Given the description of an element on the screen output the (x, y) to click on. 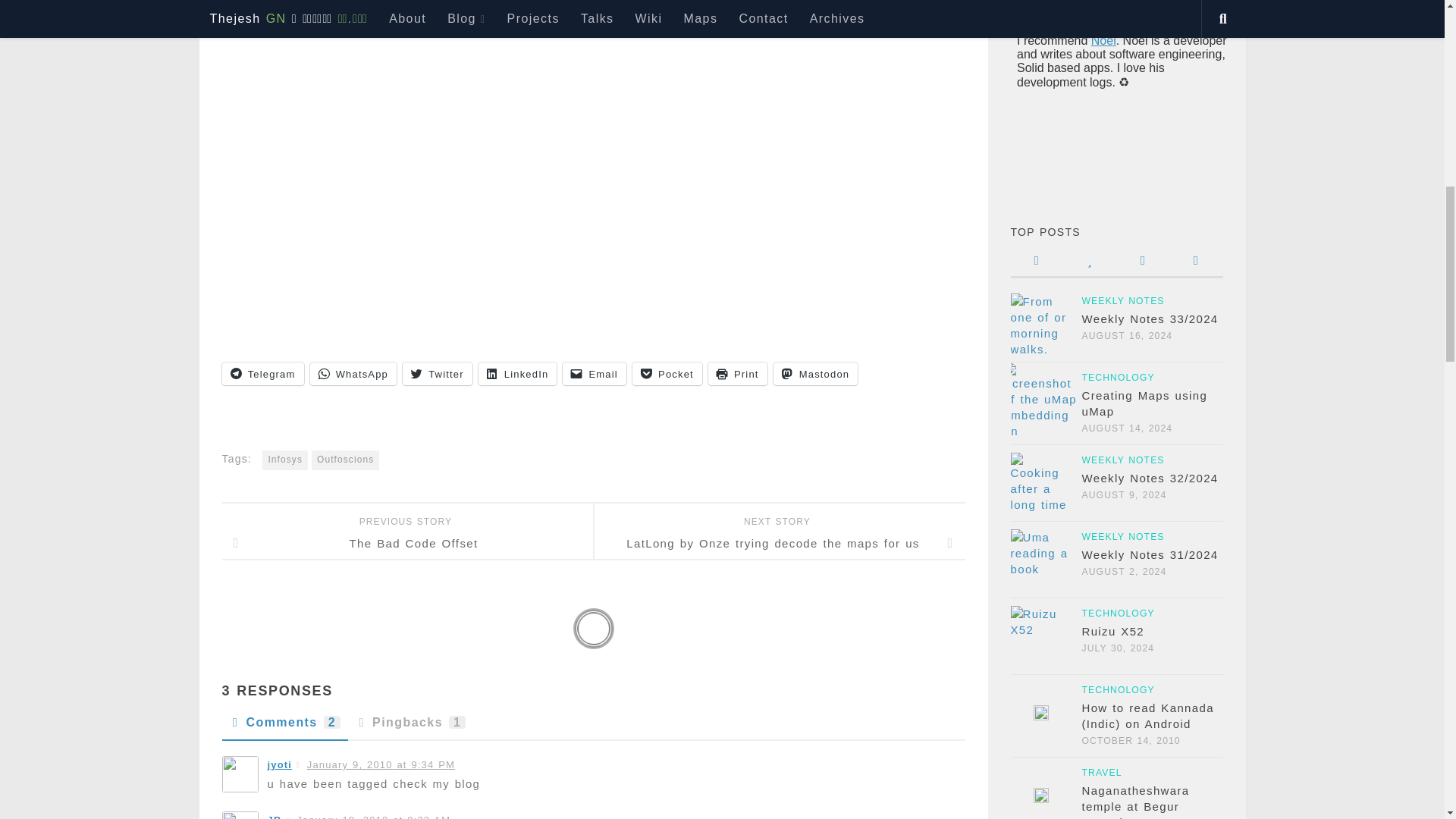
Click to email a link to a friend (594, 373)
Click to share on Mastodon (816, 373)
Click to share on LinkedIn (518, 373)
Click to share on WhatsApp (352, 373)
Click to share on Pocket (666, 373)
Click to share on Telegram (261, 373)
Click to share on Twitter (437, 373)
Click to print (737, 373)
